Given the description of an element on the screen output the (x, y) to click on. 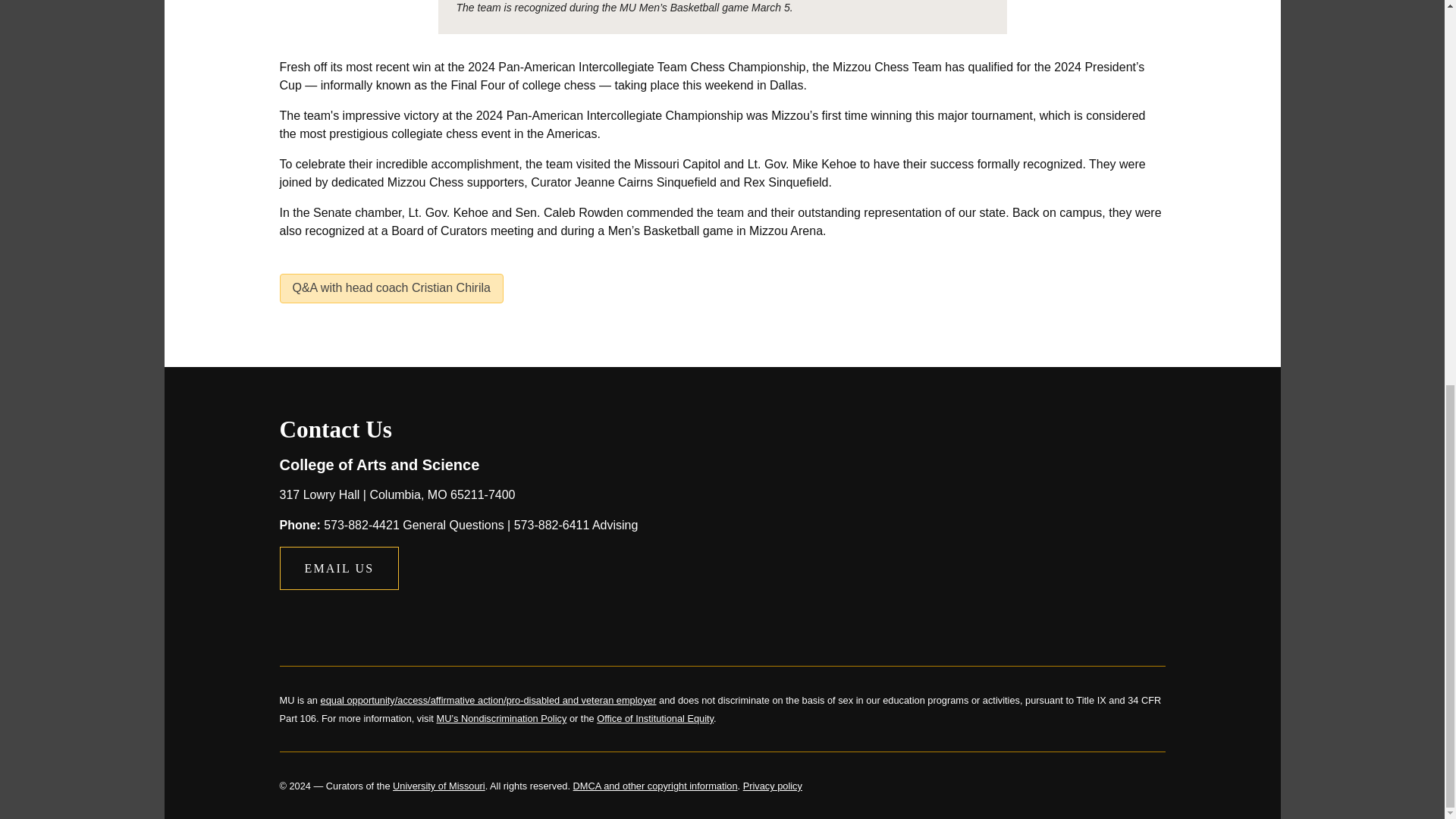
LinkedIn account (366, 615)
Facebook account (292, 615)
Twitter account (329, 615)
Instagram account (403, 615)
